Given the description of an element on the screen output the (x, y) to click on. 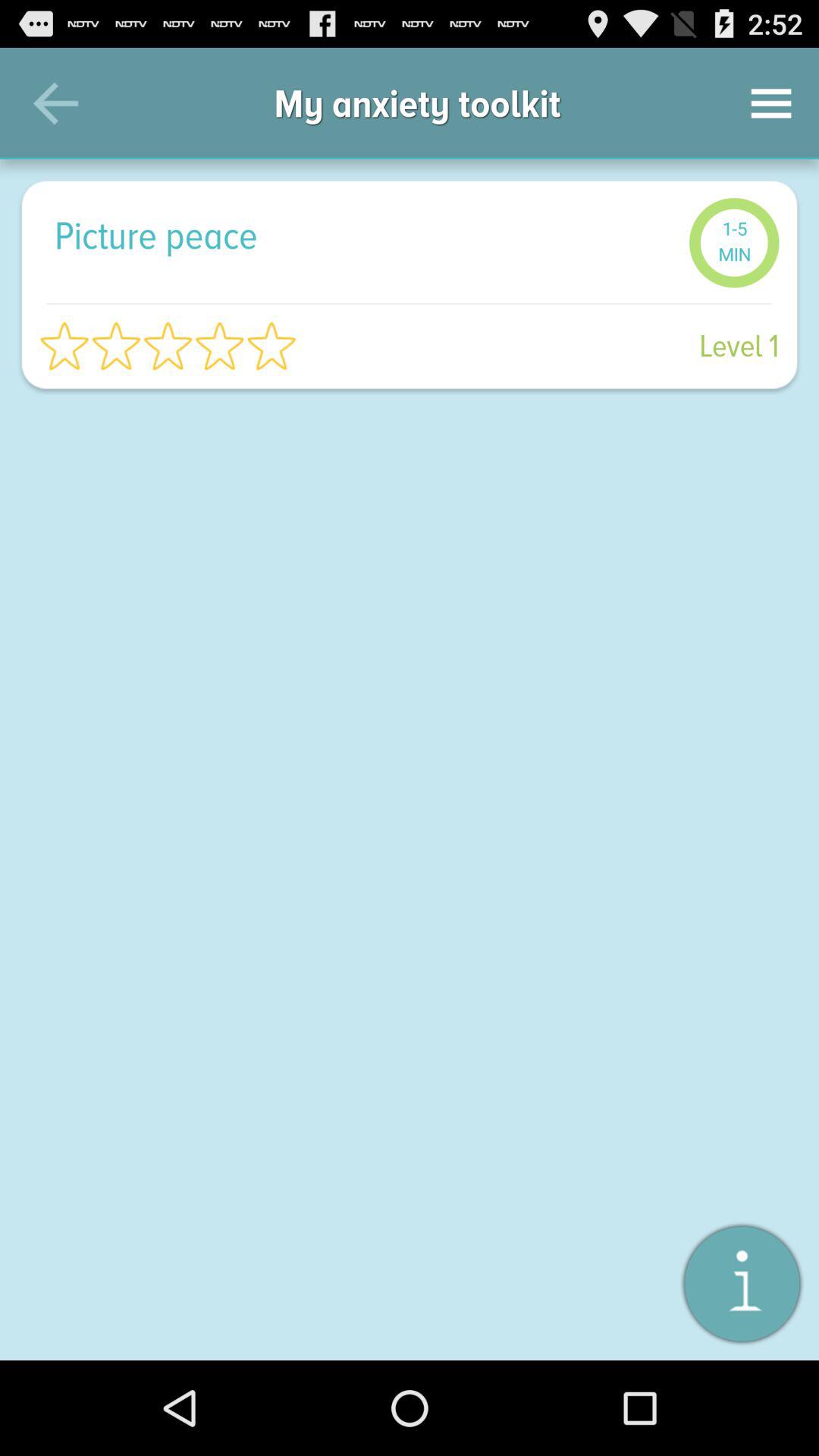
select item at the bottom right corner (742, 1283)
